Given the description of an element on the screen output the (x, y) to click on. 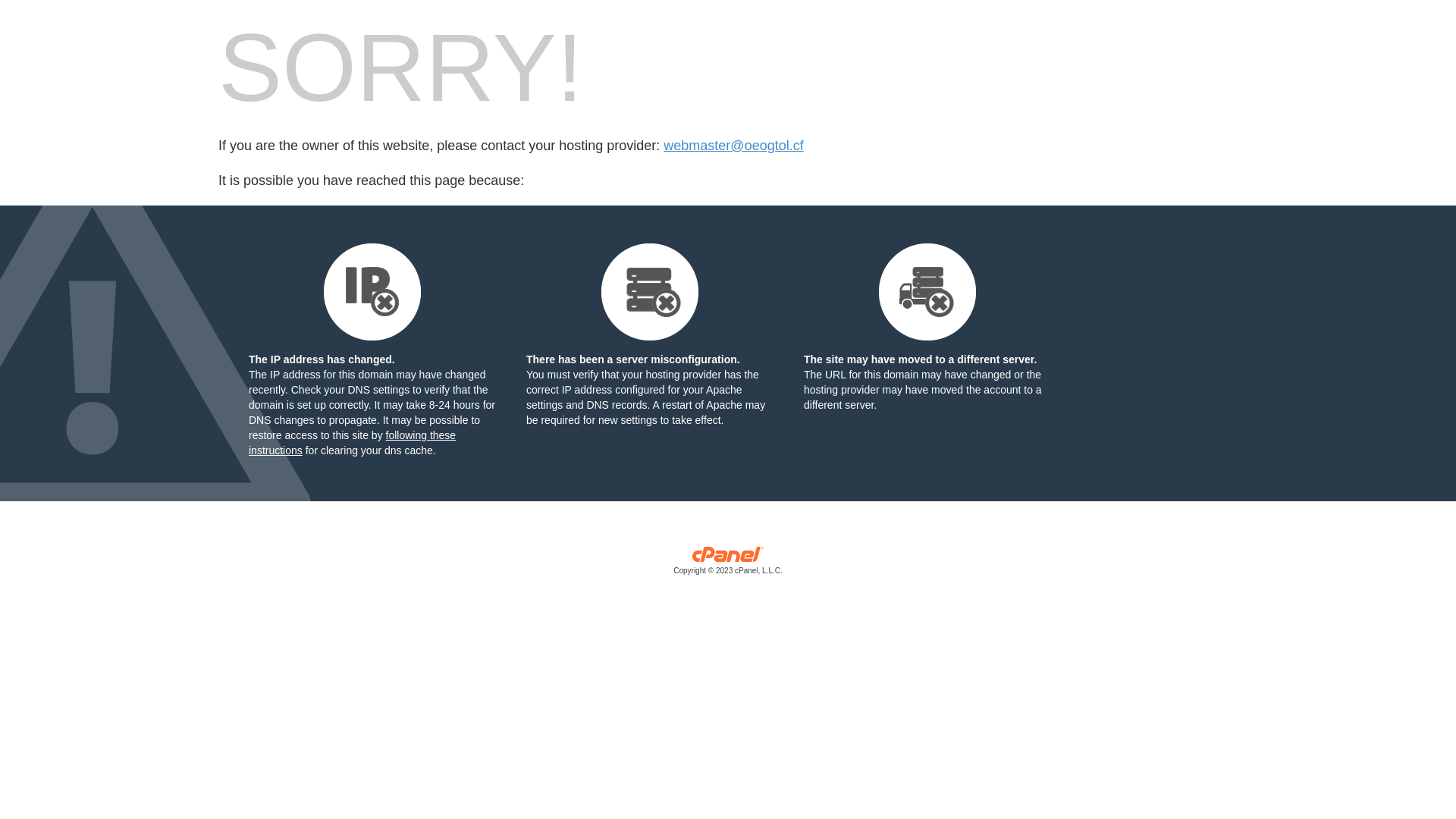
following these instructions Element type: text (351, 442)
webmaster@oeogtol.cf Element type: text (733, 145)
